Given the description of an element on the screen output the (x, y) to click on. 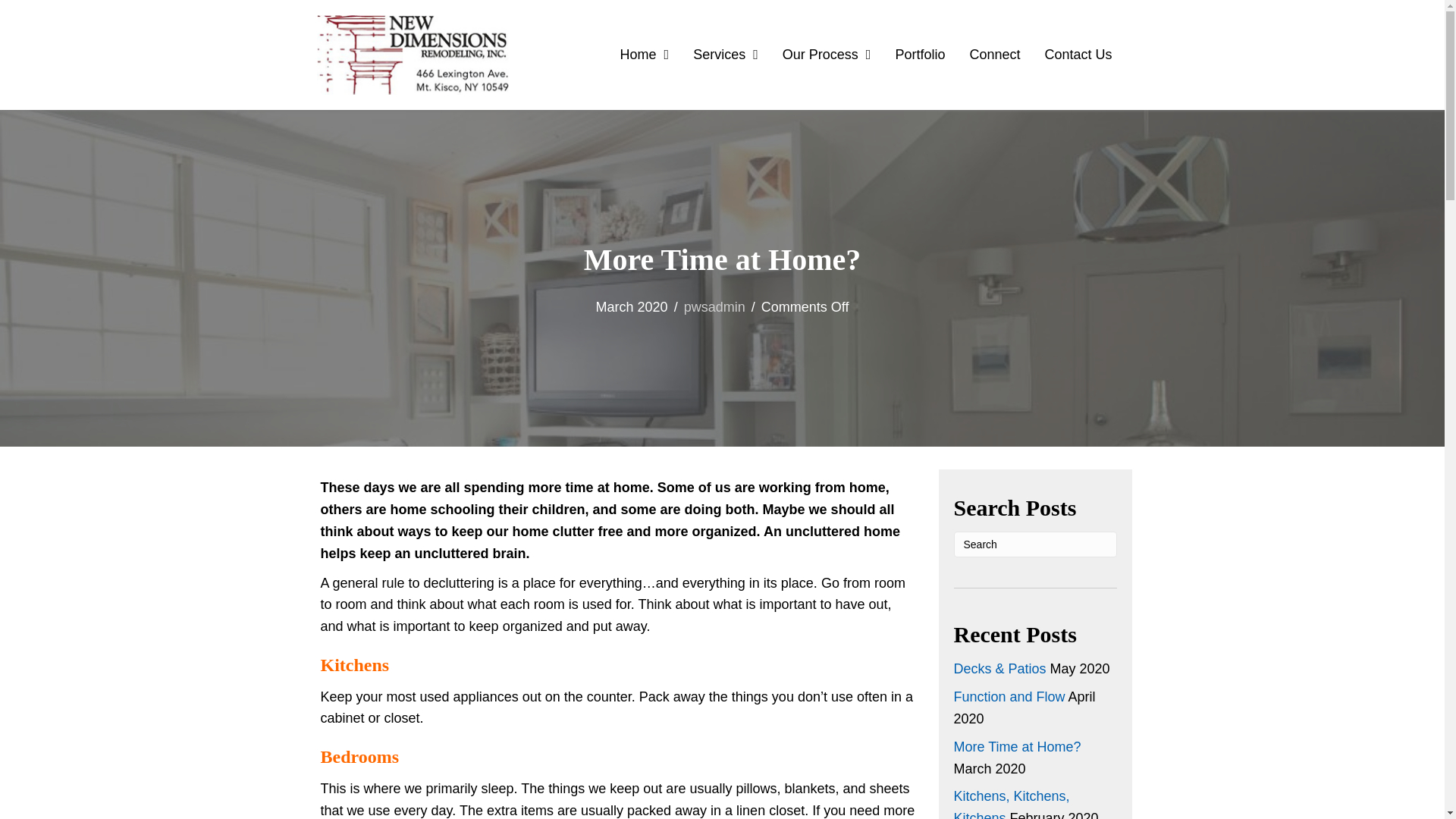
Connect (994, 54)
pwsadmin (714, 306)
Kitchens, Kitchens, Kitchens (1011, 803)
Search (1034, 544)
More Time at Home? (1017, 746)
Services (725, 54)
Search (1034, 544)
Contact Us (1077, 54)
Function and Flow (1009, 696)
Type and press Enter to search. (1034, 544)
Home (644, 54)
Our Process (826, 54)
Portfolio (919, 54)
